Given the description of an element on the screen output the (x, y) to click on. 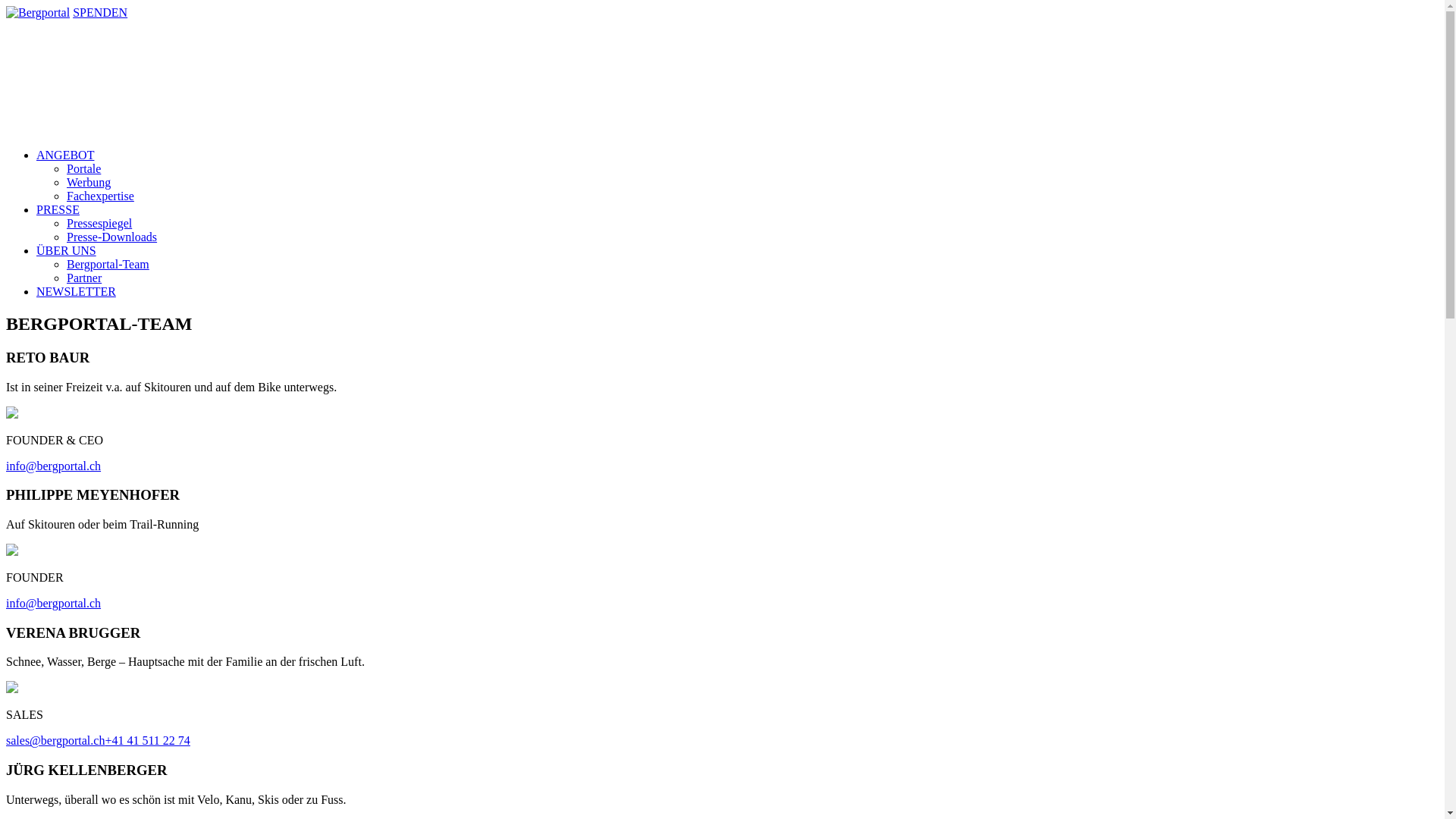
Portale Element type: text (83, 168)
Pressespiegel Element type: text (98, 222)
info@bergportal.ch Element type: text (53, 465)
Presse-Downloads Element type: text (111, 236)
PRESSE Element type: text (57, 209)
ANGEBOT Element type: text (65, 154)
Partner Element type: text (83, 277)
+41 41 511 22 74 Element type: text (146, 740)
NEWSLETTER Element type: text (76, 291)
Fachexpertise Element type: text (100, 195)
SPENDEN Element type: text (99, 12)
Werbung Element type: text (88, 181)
Bergportal-Team Element type: text (107, 263)
info@bergportal.ch Element type: text (53, 602)
sales@bergportal.ch Element type: text (55, 740)
